Given the description of an element on the screen output the (x, y) to click on. 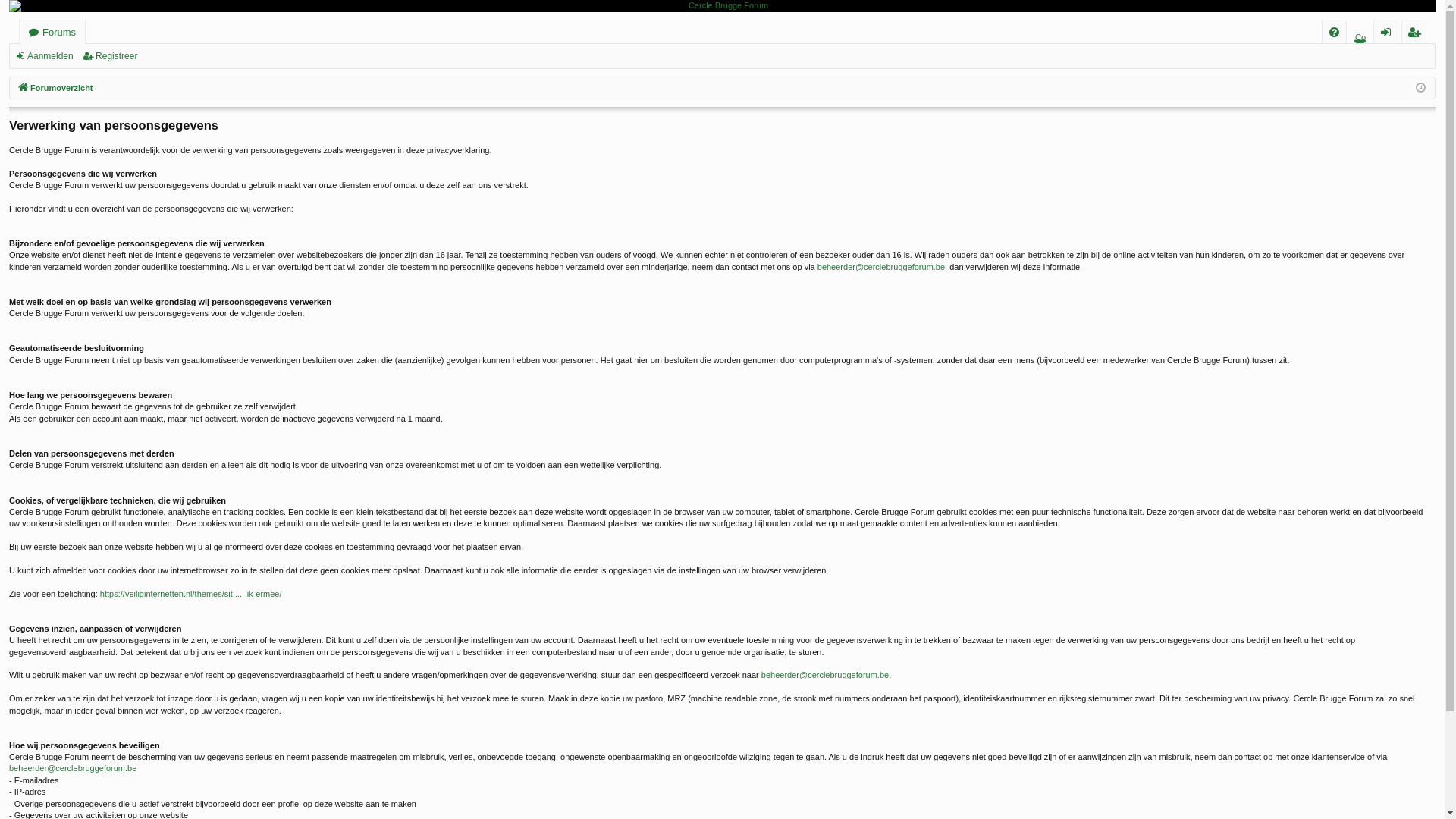
V&A Element type: text (1334, 31)
Forumoverzicht Element type: hover (722, 6)
Registreer Element type: text (112, 55)
Forums Element type: text (51, 31)
beheerder@cerclebruggeforum.be Element type: text (880, 267)
beheerder@cerclebruggeforum.be Element type: text (824, 674)
https://veiliginternetten.nl/themes/sit ... -ik-ermee/ Element type: text (191, 593)
Het is momenteel vr nov 24, 2023 9:33 am Element type: hover (1419, 88)
Forumoverzicht Element type: text (54, 87)
Aanmelden Element type: text (46, 55)
Aanmelden Element type: text (1385, 31)
beheerder@cerclebruggeforum.be Element type: text (72, 768)
Contact Element type: text (1359, 43)
Registreer Element type: text (1413, 31)
